Given the description of an element on the screen output the (x, y) to click on. 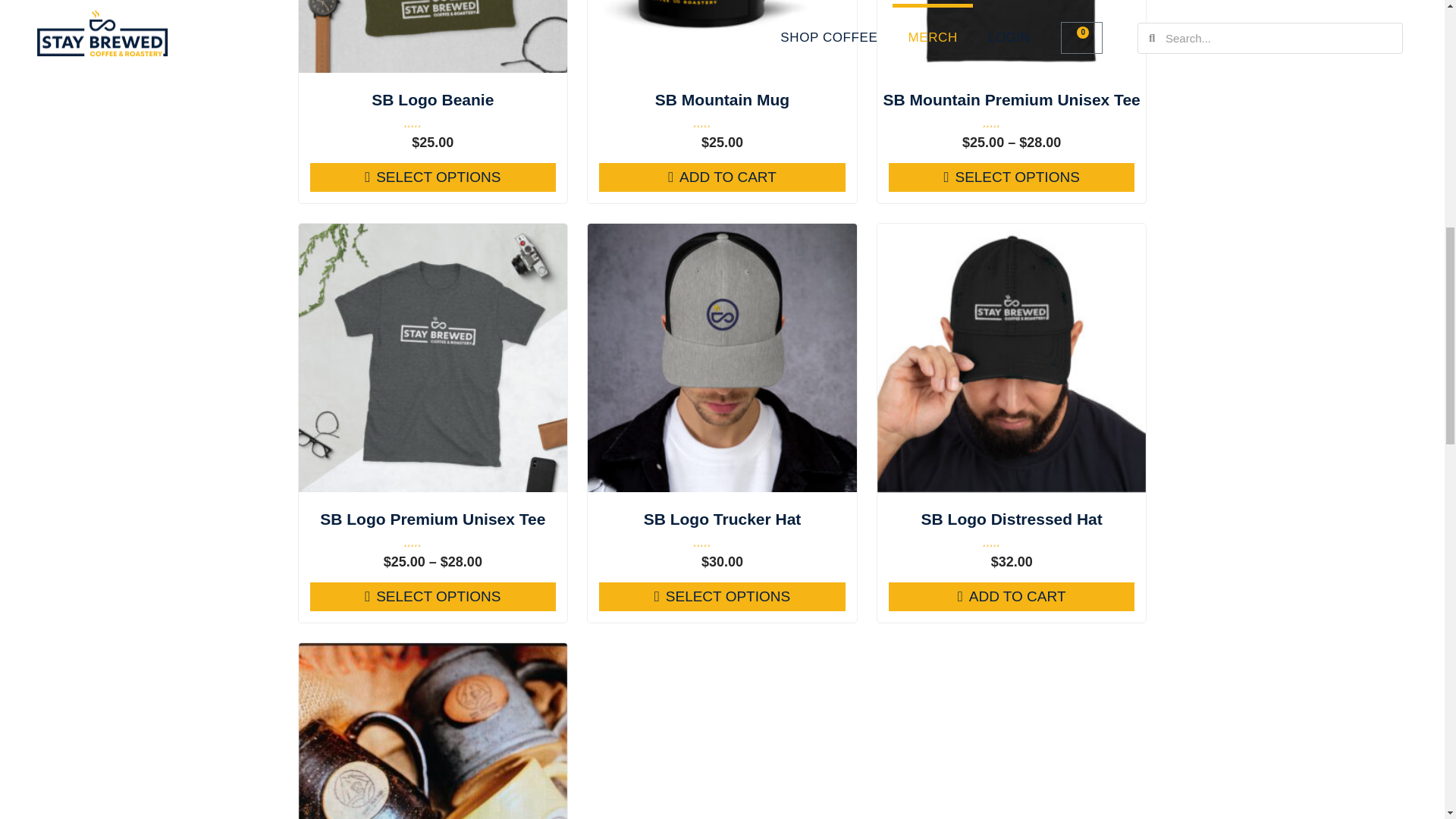
SELECT OPTIONS (721, 596)
ADD TO CART (721, 176)
ADD TO CART (1011, 596)
SELECT OPTIONS (432, 176)
SELECT OPTIONS (1011, 176)
SELECT OPTIONS (432, 596)
